Given the description of an element on the screen output the (x, y) to click on. 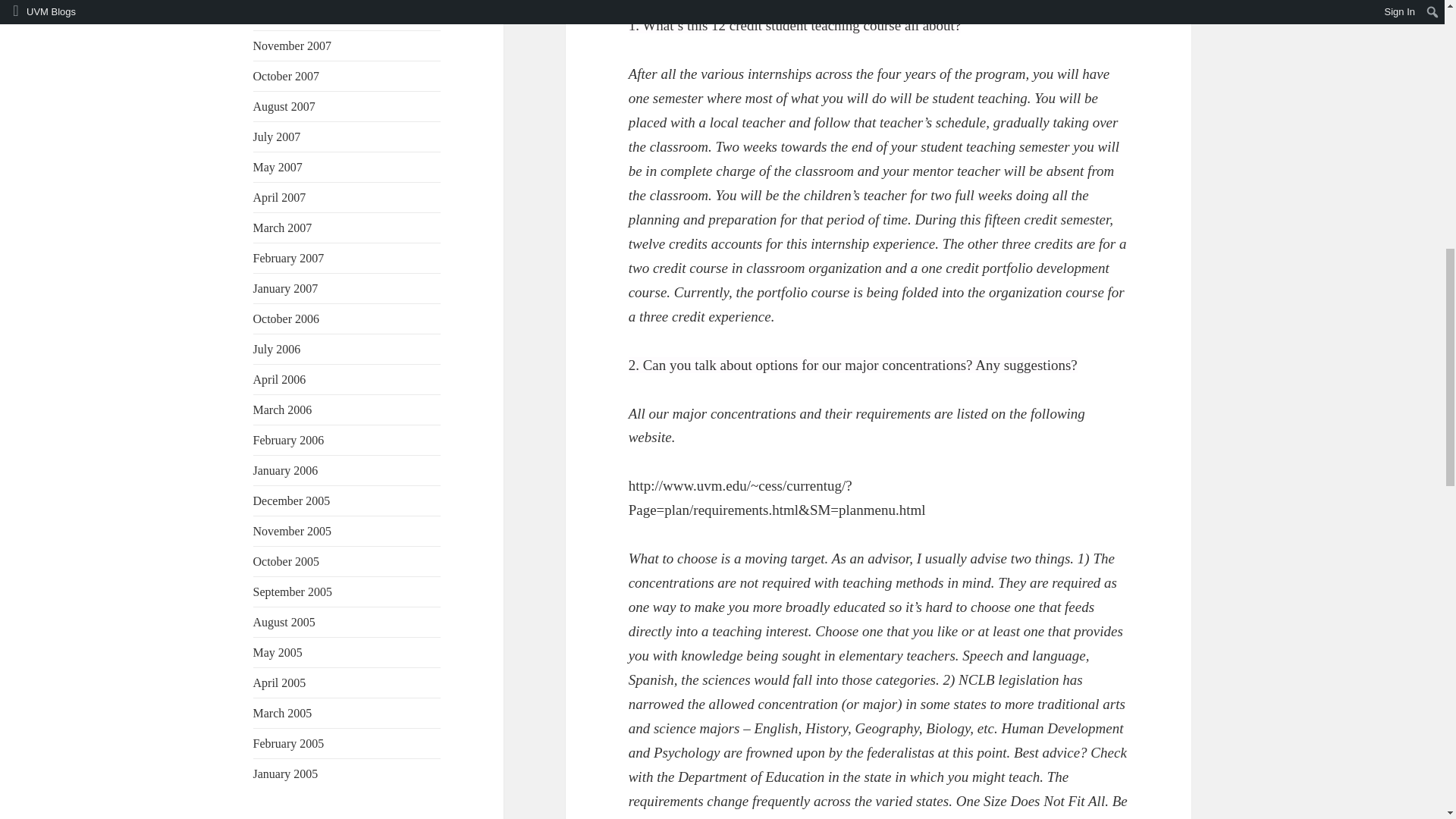
March 2007 (283, 227)
July 2006 (277, 349)
November 2007 (292, 45)
October 2007 (286, 75)
October 2006 (286, 318)
February 2007 (288, 257)
January 2007 (285, 287)
August 2007 (284, 106)
April 2007 (279, 196)
May 2007 (277, 166)
